Given the description of an element on the screen output the (x, y) to click on. 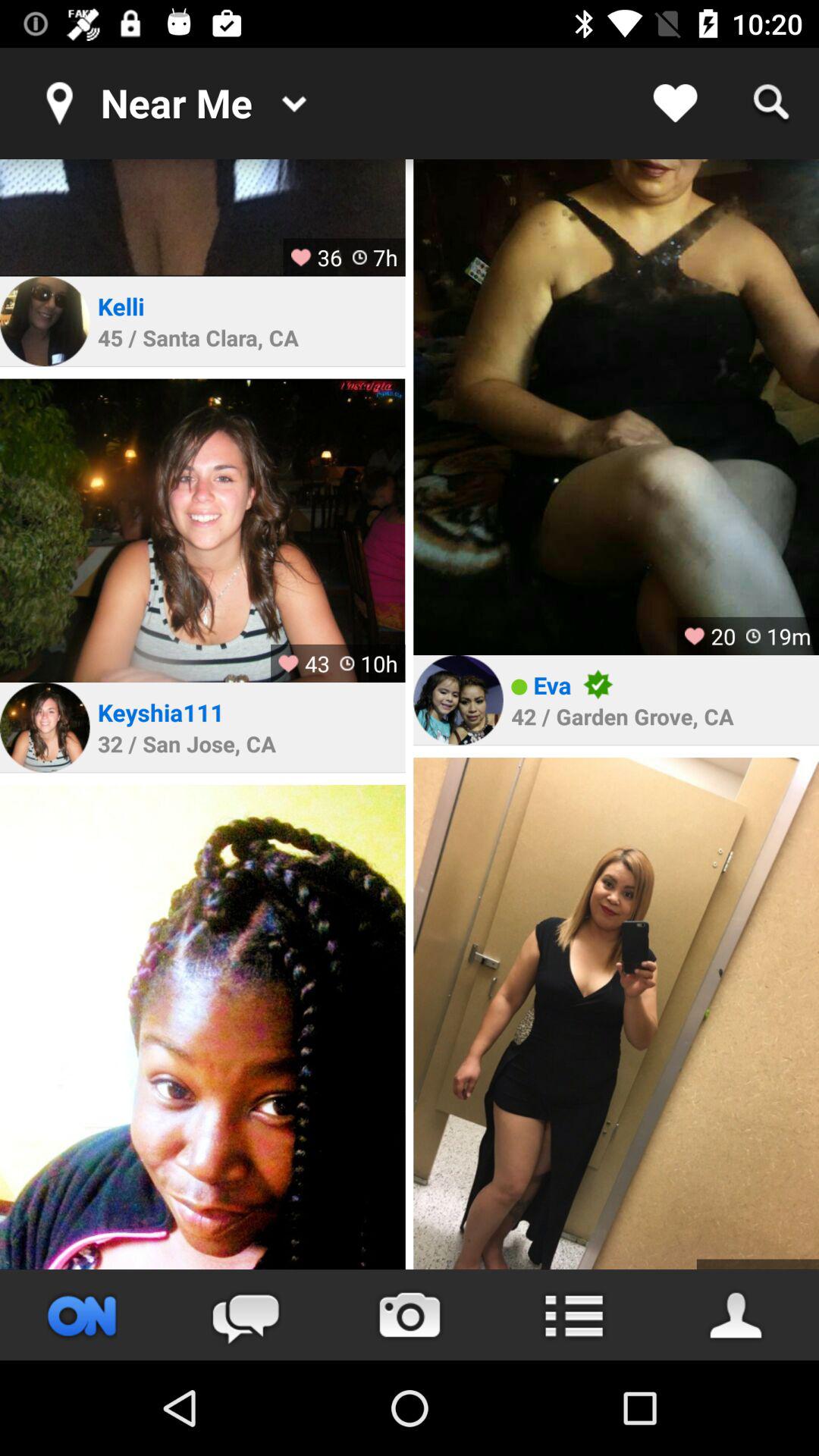
go to contact 's profile (458, 700)
